Given the description of an element on the screen output the (x, y) to click on. 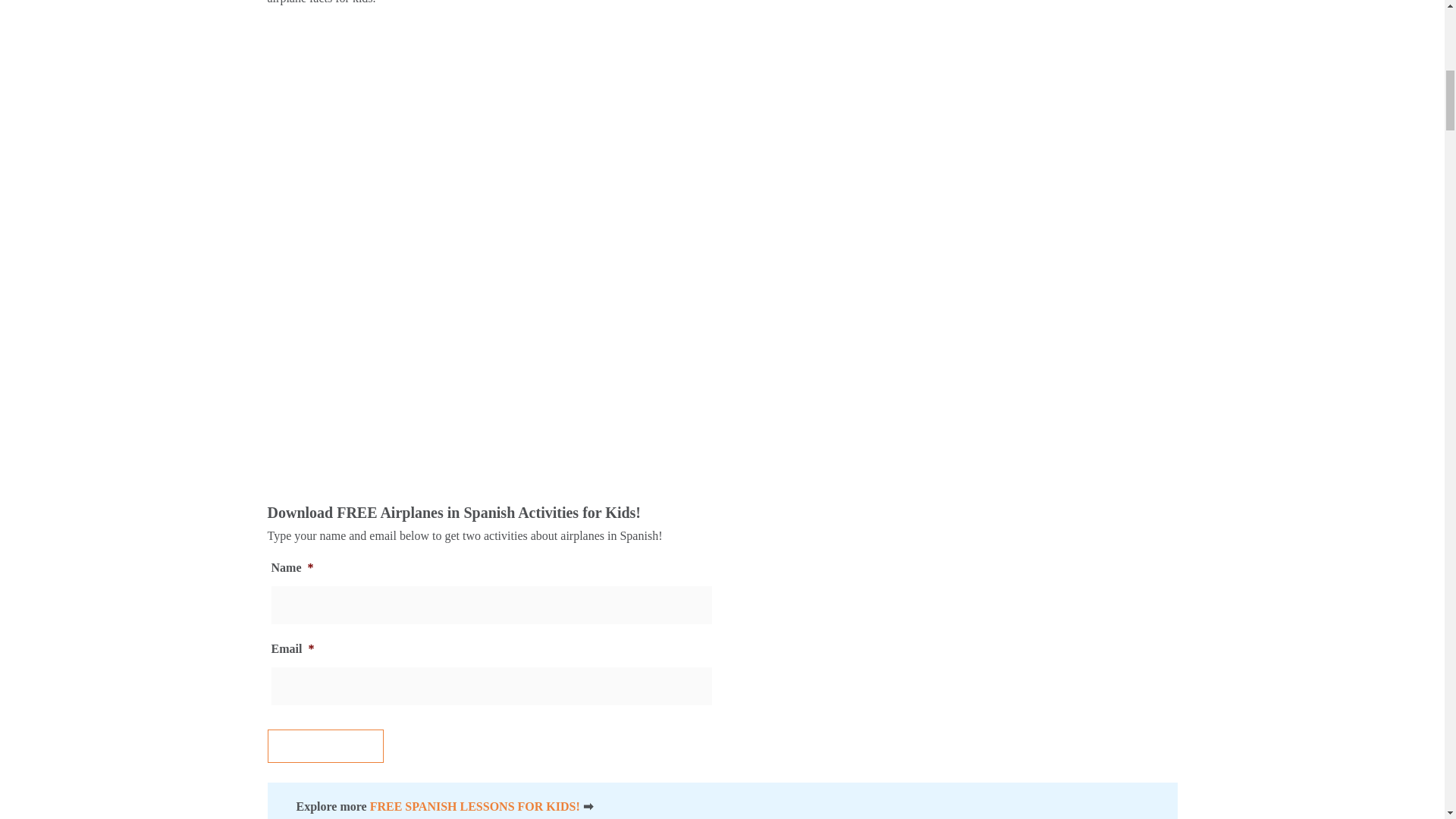
I want it! (325, 745)
